Given the description of an element on the screen output the (x, y) to click on. 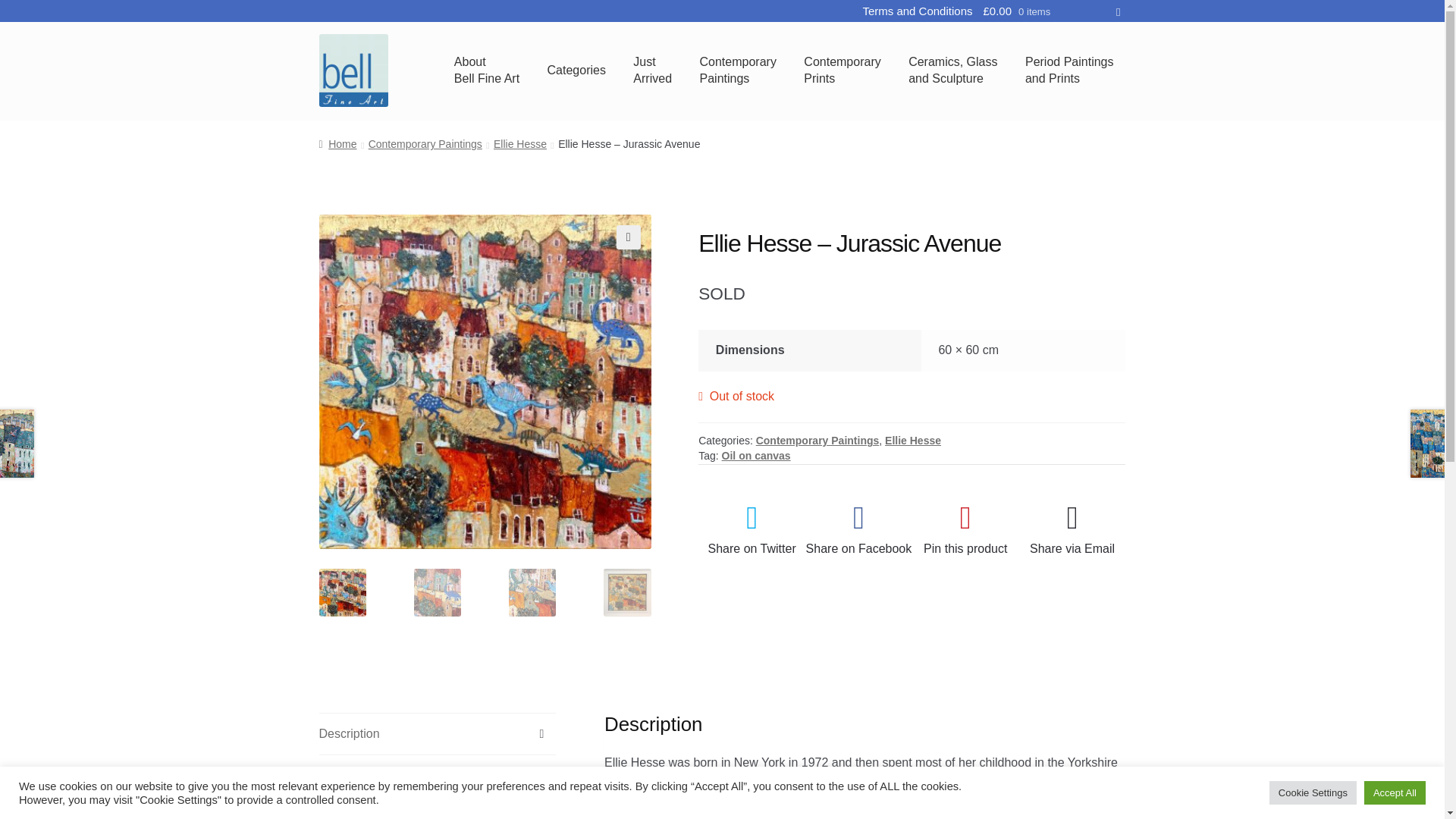
Terms and Conditions (842, 70)
Description (916, 11)
Ellie Hesse (437, 733)
Ellie Hesse (912, 440)
Pin this product (520, 143)
Share on Twitter (737, 70)
Jurassic-Avenue-Ellie-Hesse-oil-painting- (965, 526)
Oil on canvas (751, 526)
Home (484, 381)
Contemporary Paintings (756, 455)
Contemporary Paintings (337, 143)
Skip to navigation (817, 440)
